Given the description of an element on the screen output the (x, y) to click on. 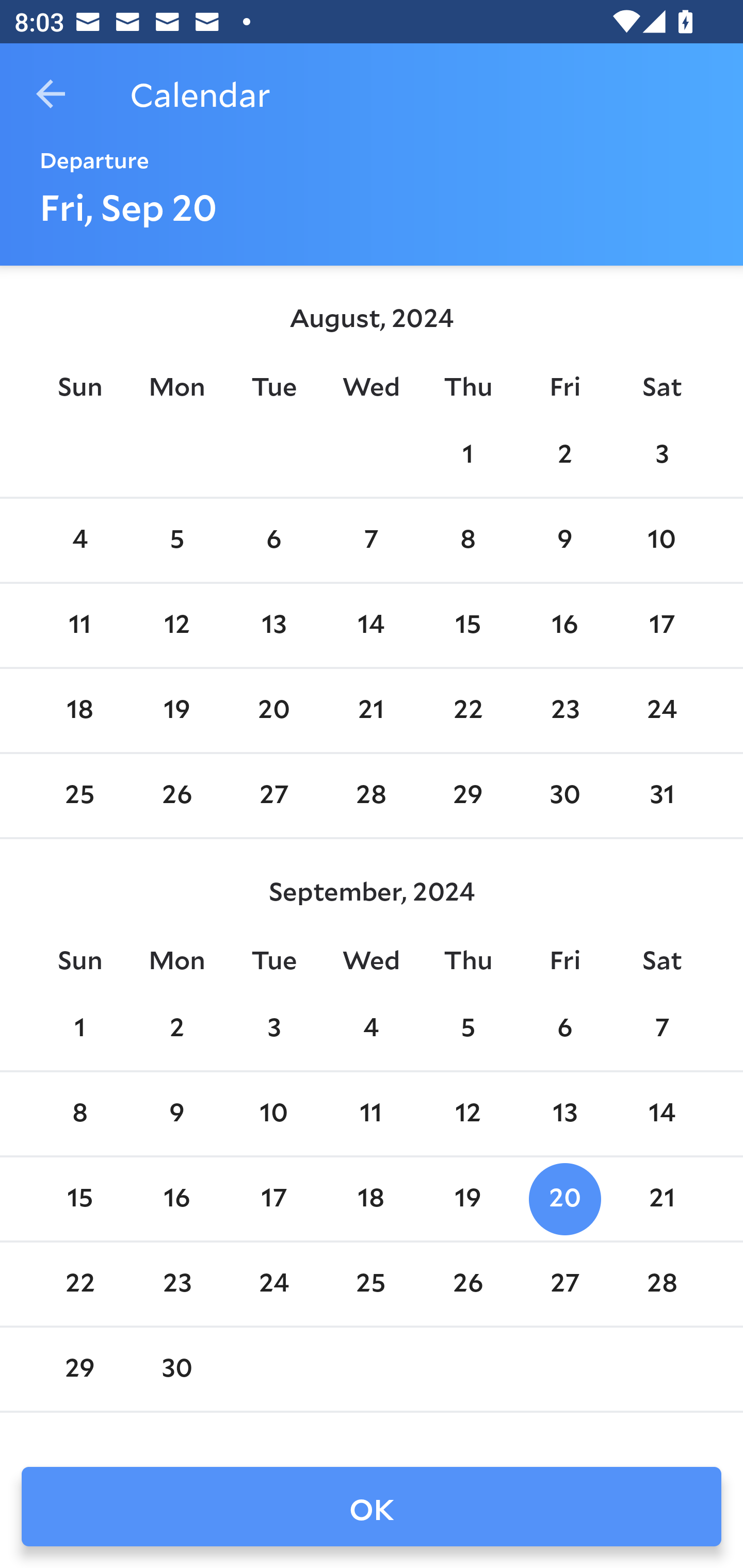
Navigate up (50, 93)
1 (467, 454)
2 (565, 454)
3 (661, 454)
4 (79, 540)
5 (177, 540)
6 (273, 540)
7 (371, 540)
8 (467, 540)
9 (565, 540)
10 (661, 540)
11 (79, 625)
12 (177, 625)
13 (273, 625)
14 (371, 625)
15 (467, 625)
16 (565, 625)
17 (661, 625)
18 (79, 710)
19 (177, 710)
20 (273, 710)
21 (371, 710)
22 (467, 710)
23 (565, 710)
24 (661, 710)
25 (79, 796)
26 (177, 796)
27 (273, 796)
28 (371, 796)
29 (467, 796)
30 (565, 796)
31 (661, 796)
1 (79, 1028)
2 (177, 1028)
3 (273, 1028)
4 (371, 1028)
5 (467, 1028)
6 (565, 1028)
7 (661, 1028)
8 (79, 1114)
9 (177, 1114)
10 (273, 1114)
11 (371, 1114)
12 (467, 1114)
13 (565, 1114)
14 (661, 1114)
15 (79, 1199)
16 (177, 1199)
17 (273, 1199)
18 (371, 1199)
19 (467, 1199)
20 (565, 1199)
21 (661, 1199)
22 (79, 1284)
23 (177, 1284)
24 (273, 1284)
25 (371, 1284)
26 (467, 1284)
27 (565, 1284)
28 (661, 1284)
29 (79, 1368)
30 (177, 1368)
OK (371, 1506)
